Given the description of an element on the screen output the (x, y) to click on. 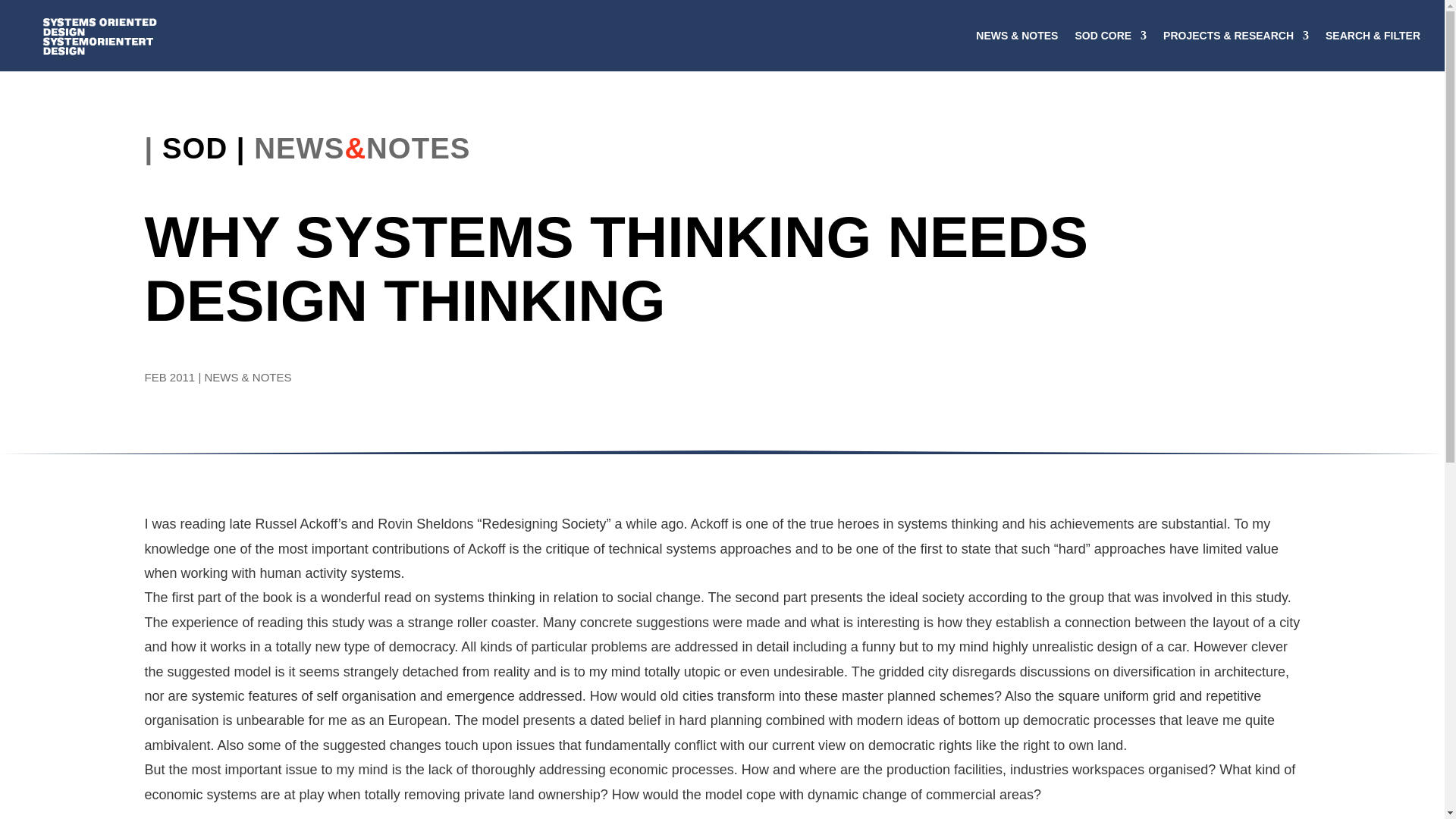
SOD CORE (1110, 50)
